Given the description of an element on the screen output the (x, y) to click on. 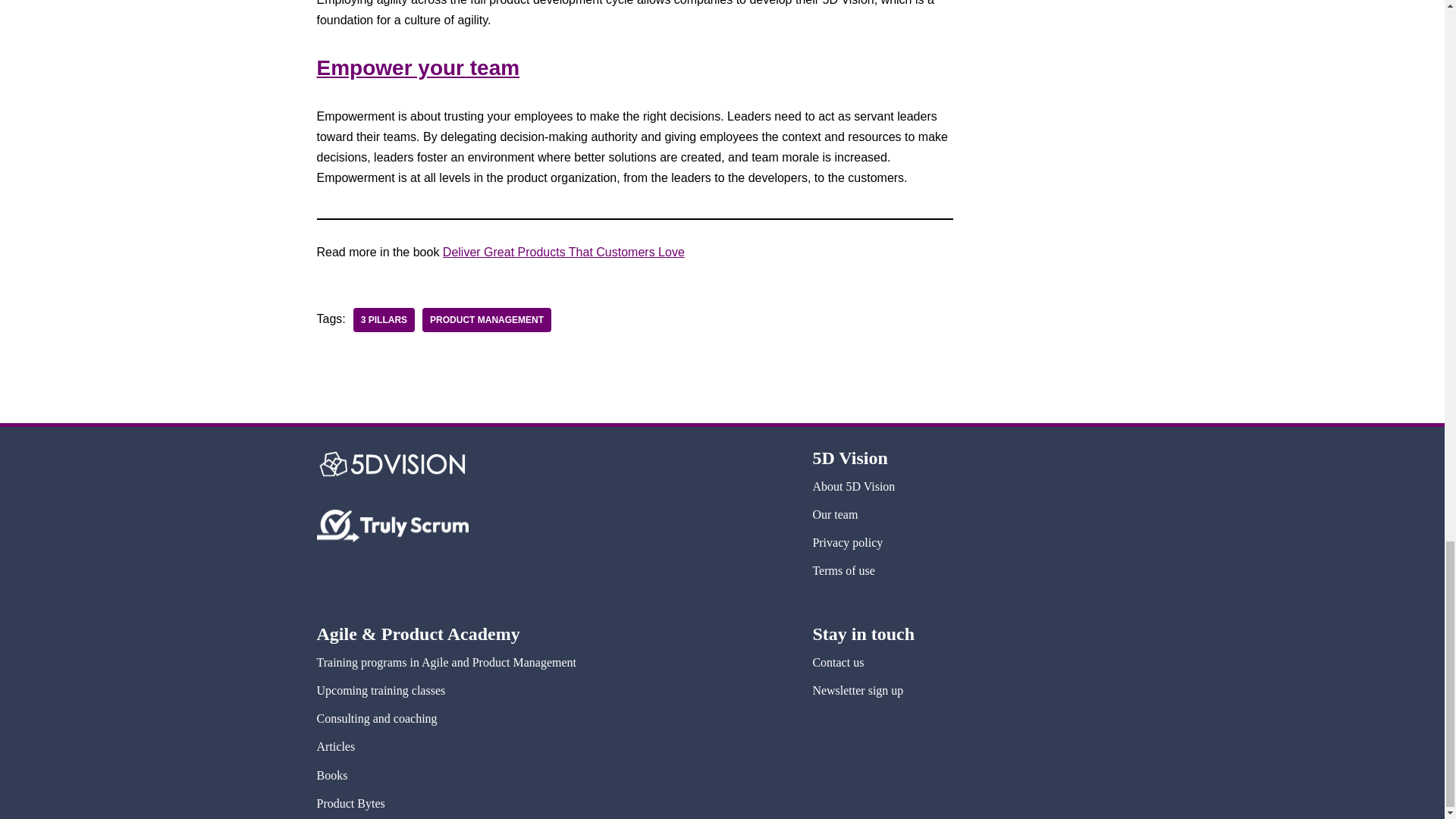
3 pillars (383, 319)
Product Management (486, 319)
